Given the description of an element on the screen output the (x, y) to click on. 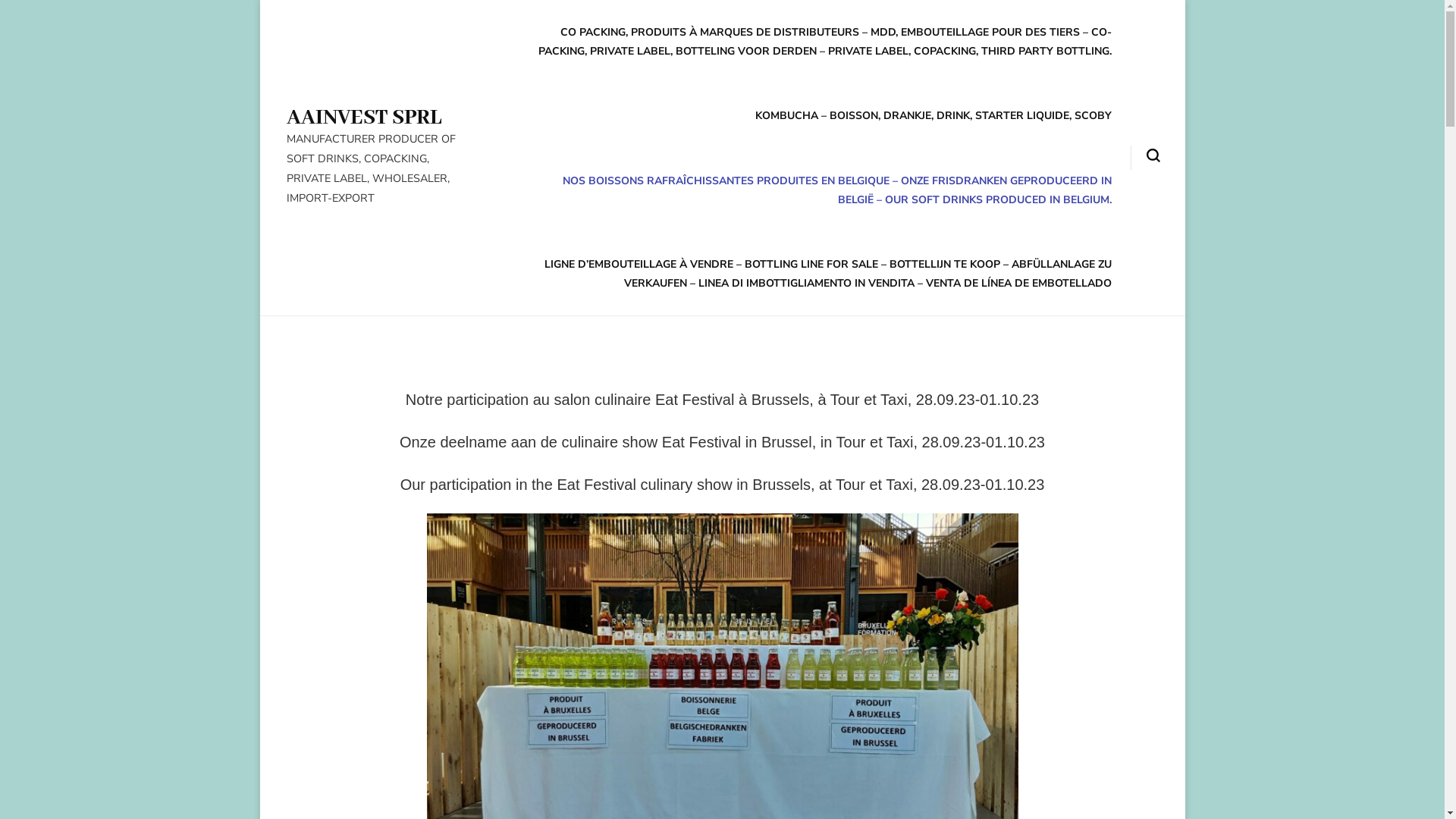
AAINVEST SPRL Element type: text (363, 117)
